Given the description of an element on the screen output the (x, y) to click on. 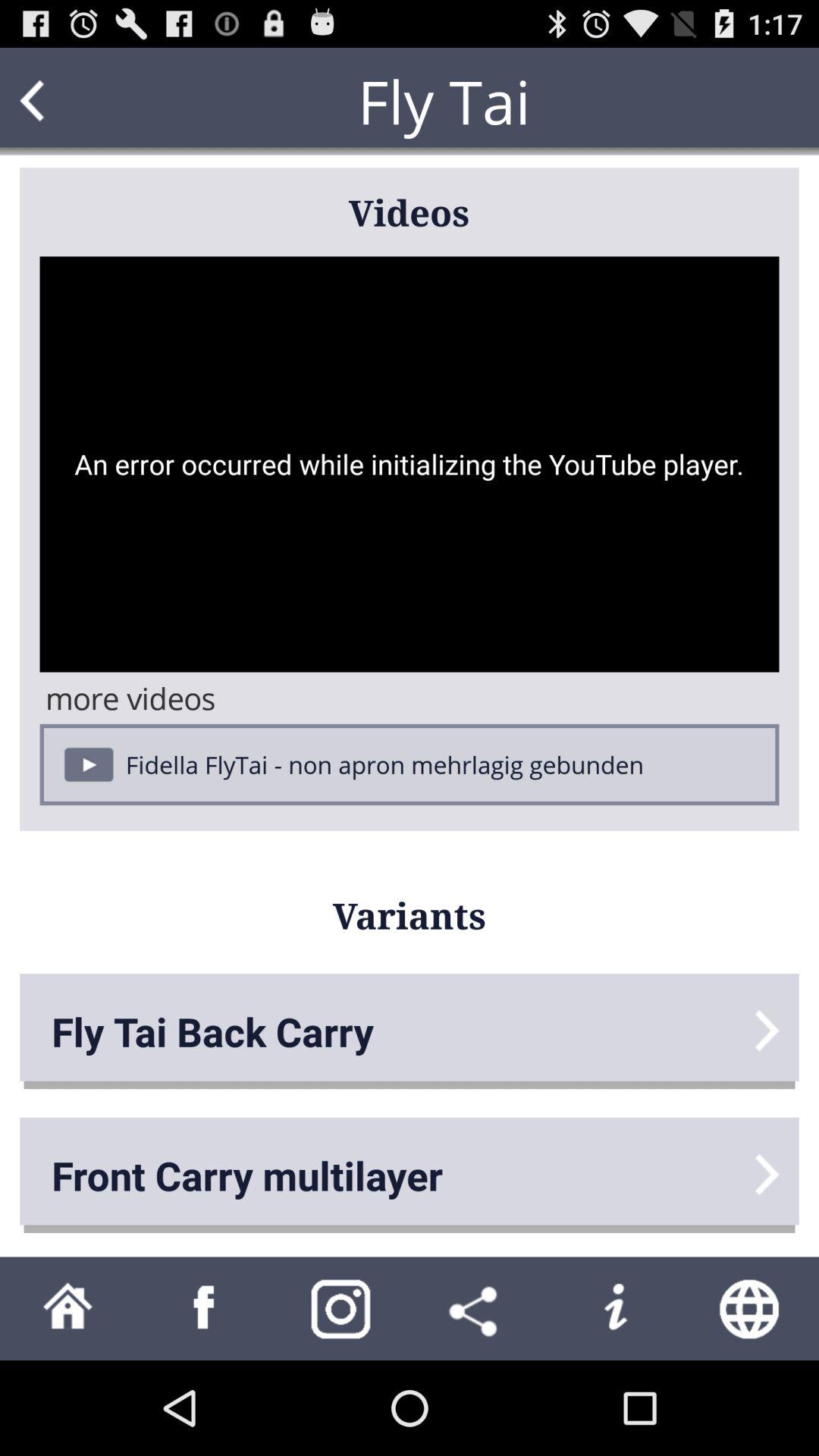
take screen shot (341, 1308)
